Given the description of an element on the screen output the (x, y) to click on. 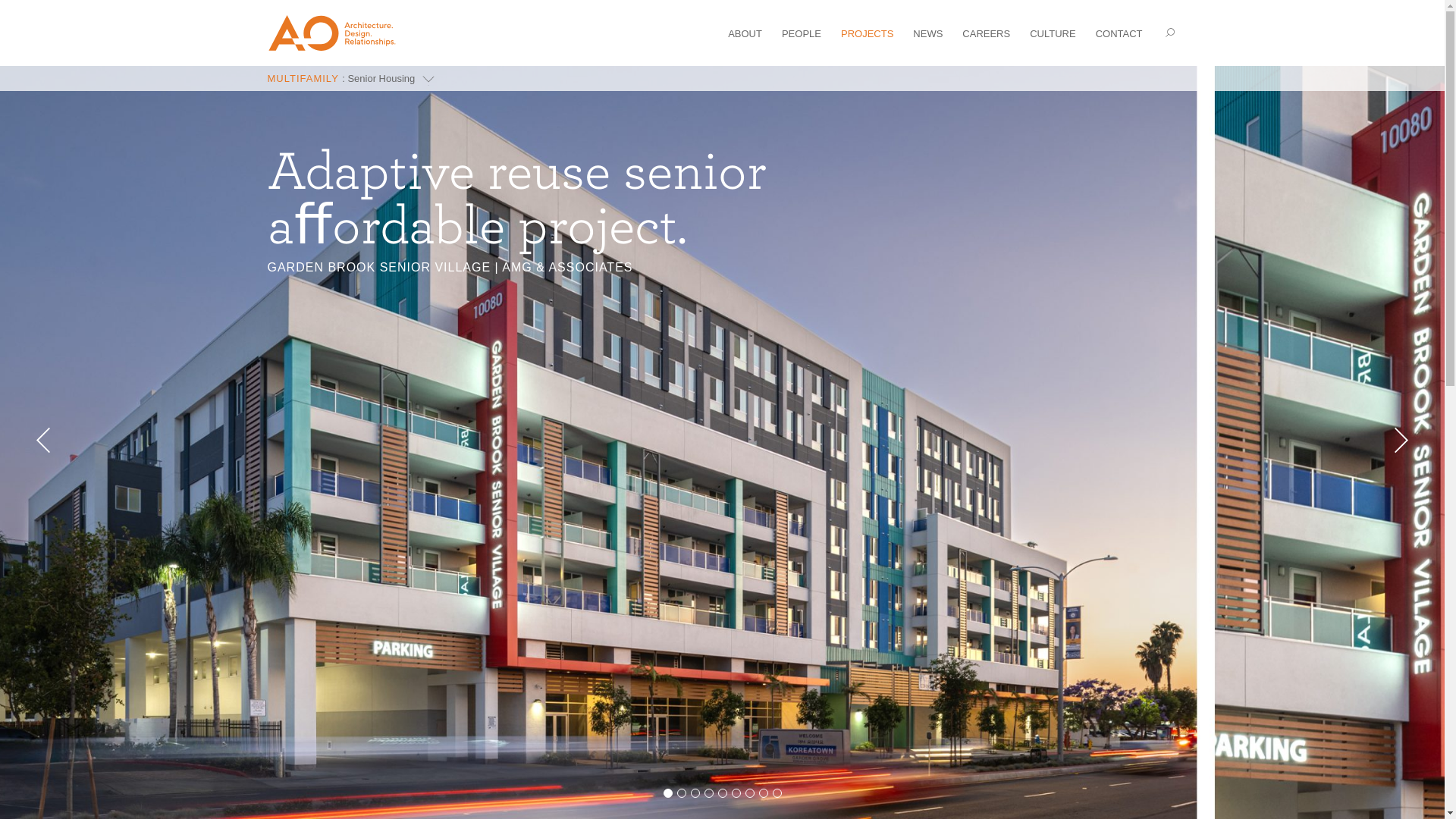
NEWS (927, 32)
ABOUT (744, 32)
CULTURE (1052, 32)
PROJECTS (867, 32)
PEOPLE (801, 32)
CAREERS (986, 32)
CONTACT (1119, 32)
